Given the description of an element on the screen output the (x, y) to click on. 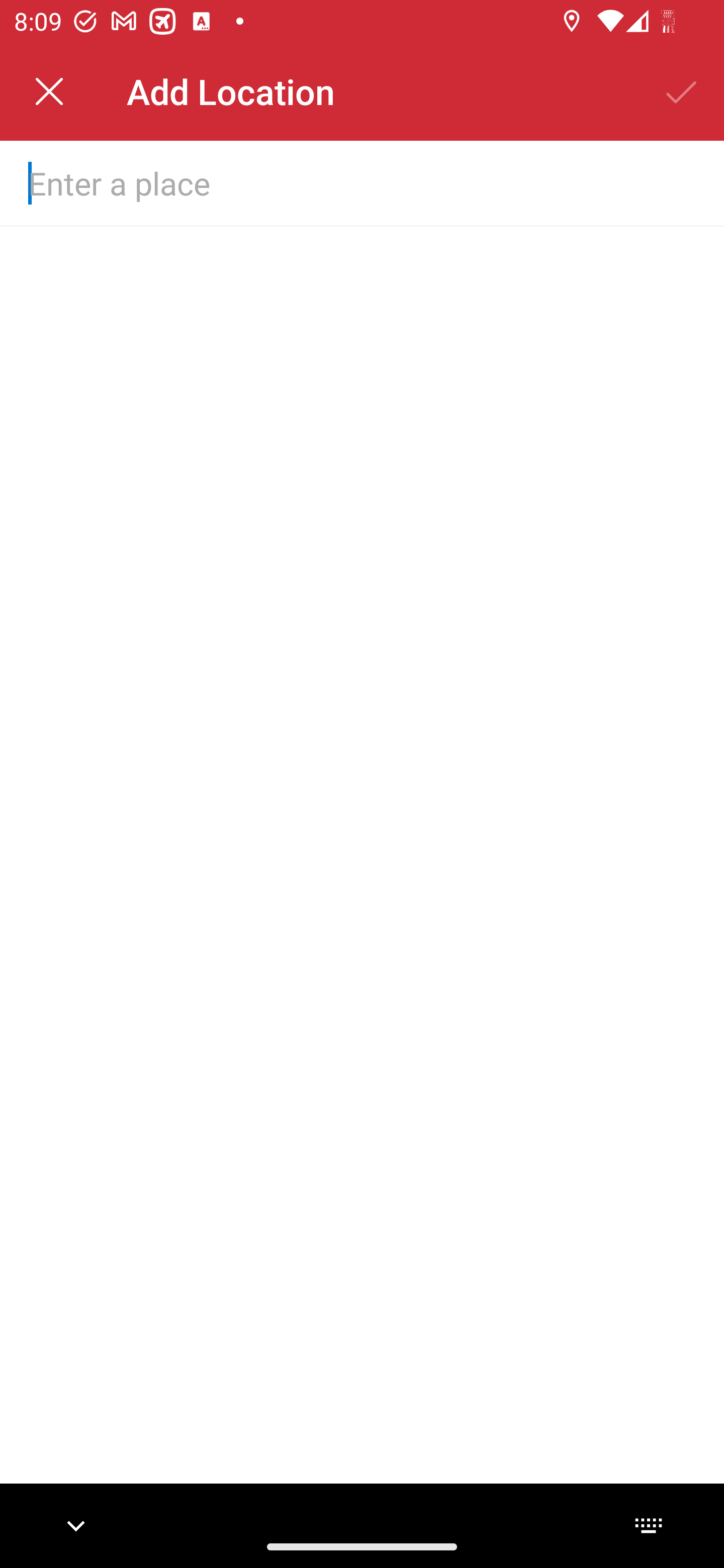
Close (49, 91)
Done (681, 91)
Enter a place (330, 182)
